Given the description of an element on the screen output the (x, y) to click on. 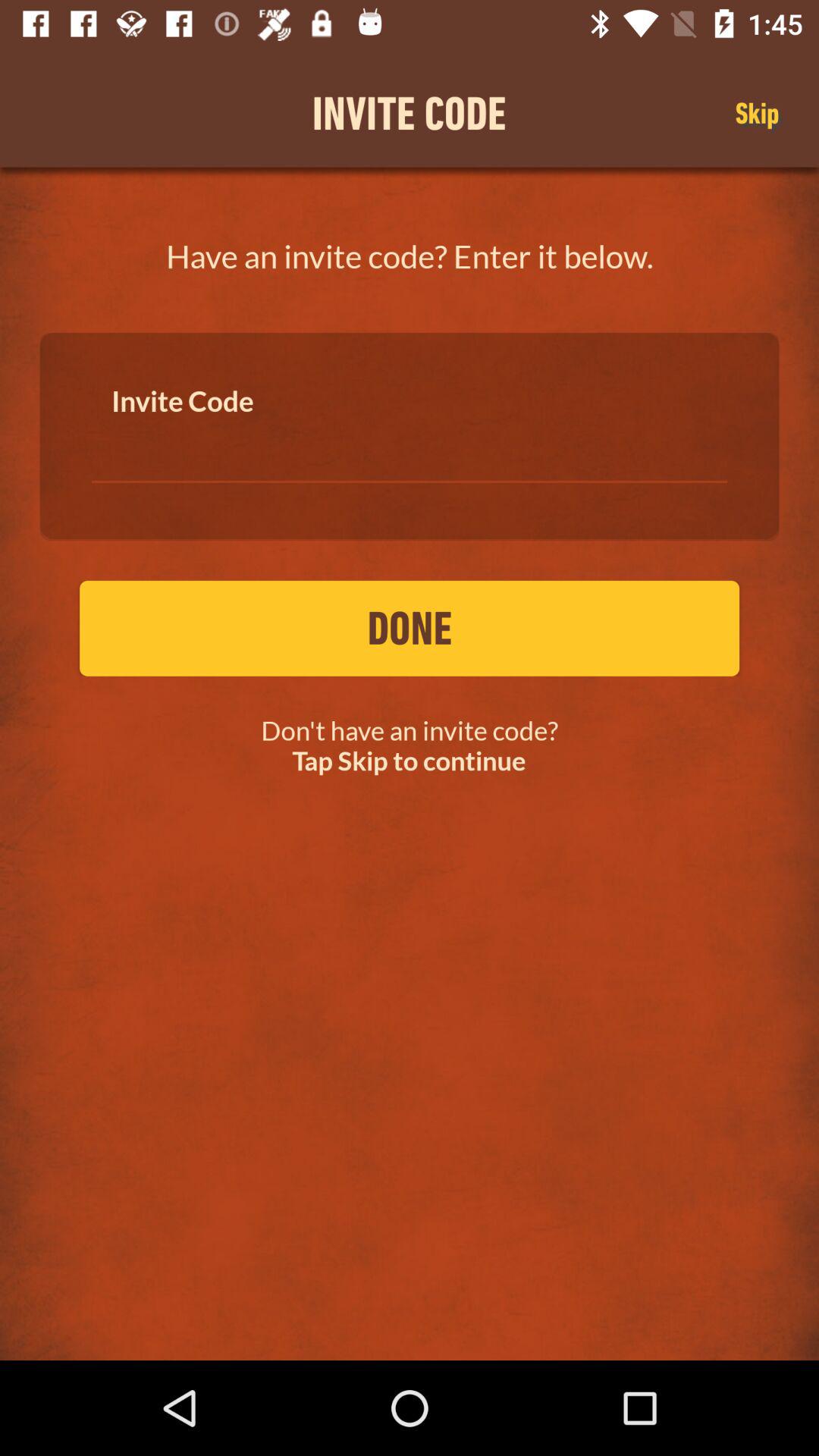
jump until the done item (409, 628)
